Given the description of an element on the screen output the (x, y) to click on. 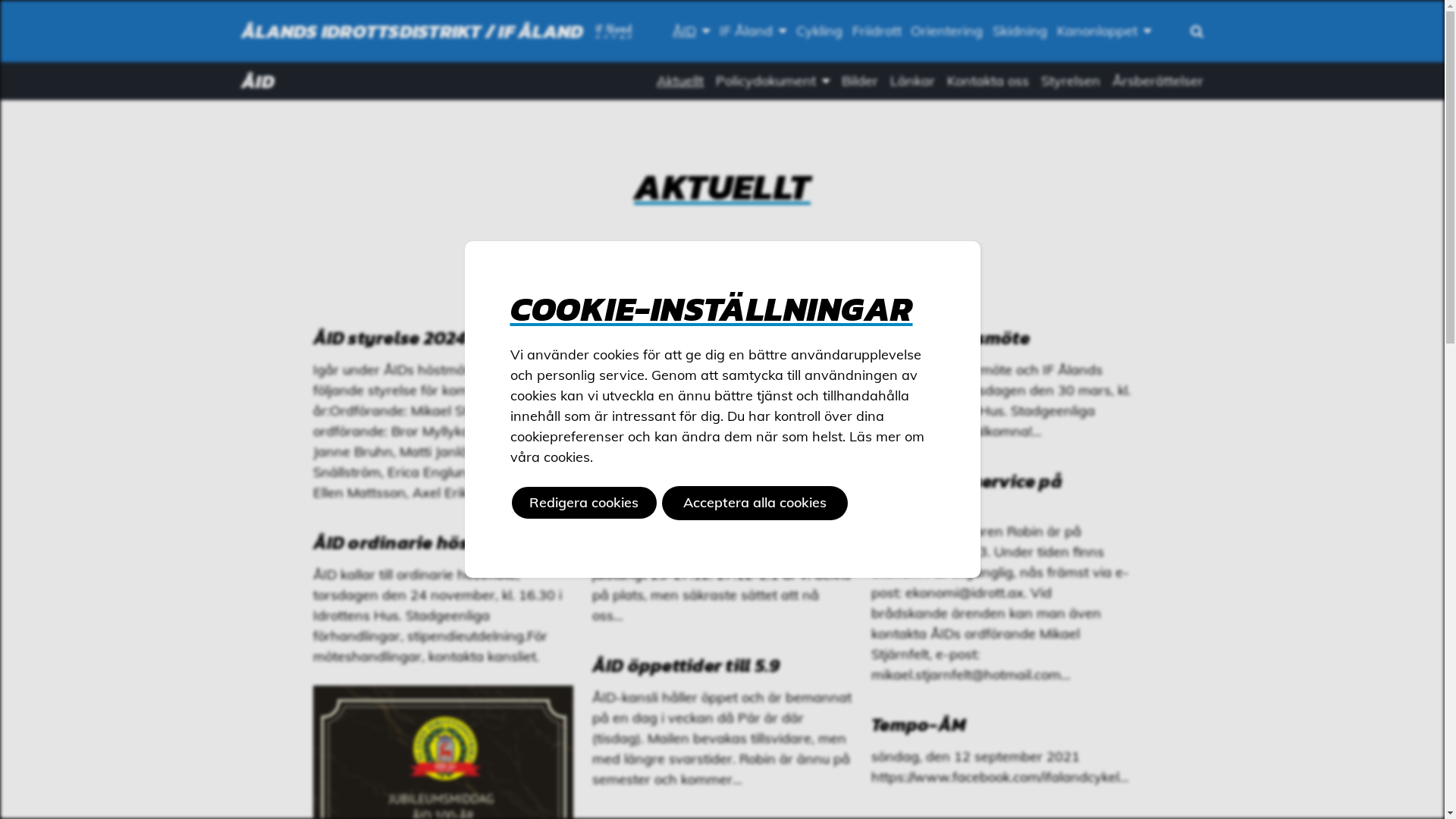
Aktuellt Element type: text (679, 81)
Acceptera alla cookies Element type: text (754, 503)
Kontakta oss Element type: text (988, 81)
Orientering Element type: text (947, 31)
Policydokument Element type: text (772, 81)
Bilder Element type: text (859, 81)
Skidning Element type: text (1020, 31)
Kanonloppet Element type: text (1104, 31)
Styrelsen Element type: text (1070, 81)
Friidrott Element type: text (876, 31)
Cykling Element type: text (818, 31)
